Given the description of an element on the screen output the (x, y) to click on. 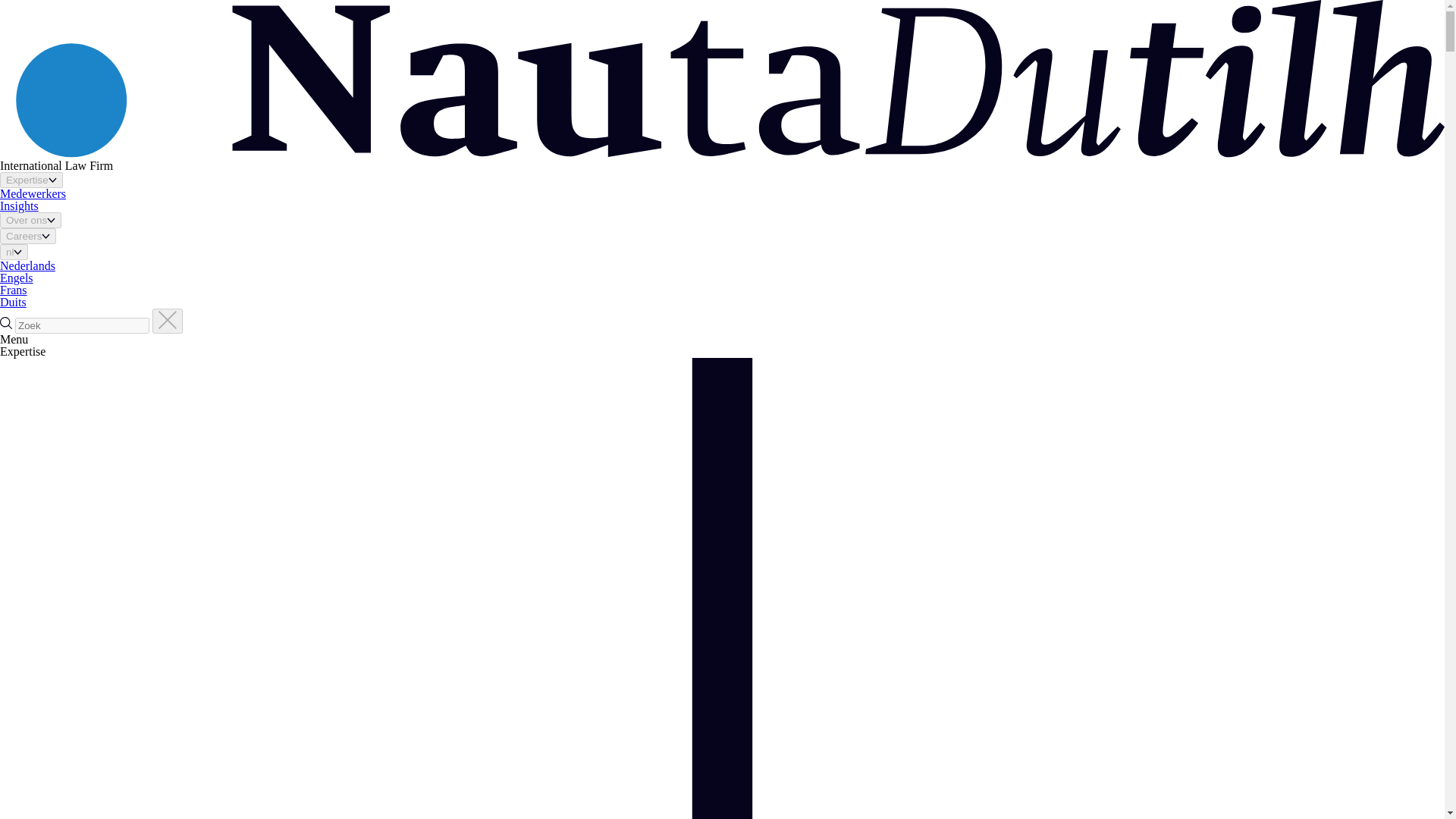
Engels (16, 277)
Careers (28, 236)
nl (13, 252)
Duits (13, 301)
Over ons (30, 220)
Frans (13, 289)
Insights (19, 205)
Expertise (31, 179)
Medewerkers (32, 193)
Nederlands (27, 265)
